Given the description of an element on the screen output the (x, y) to click on. 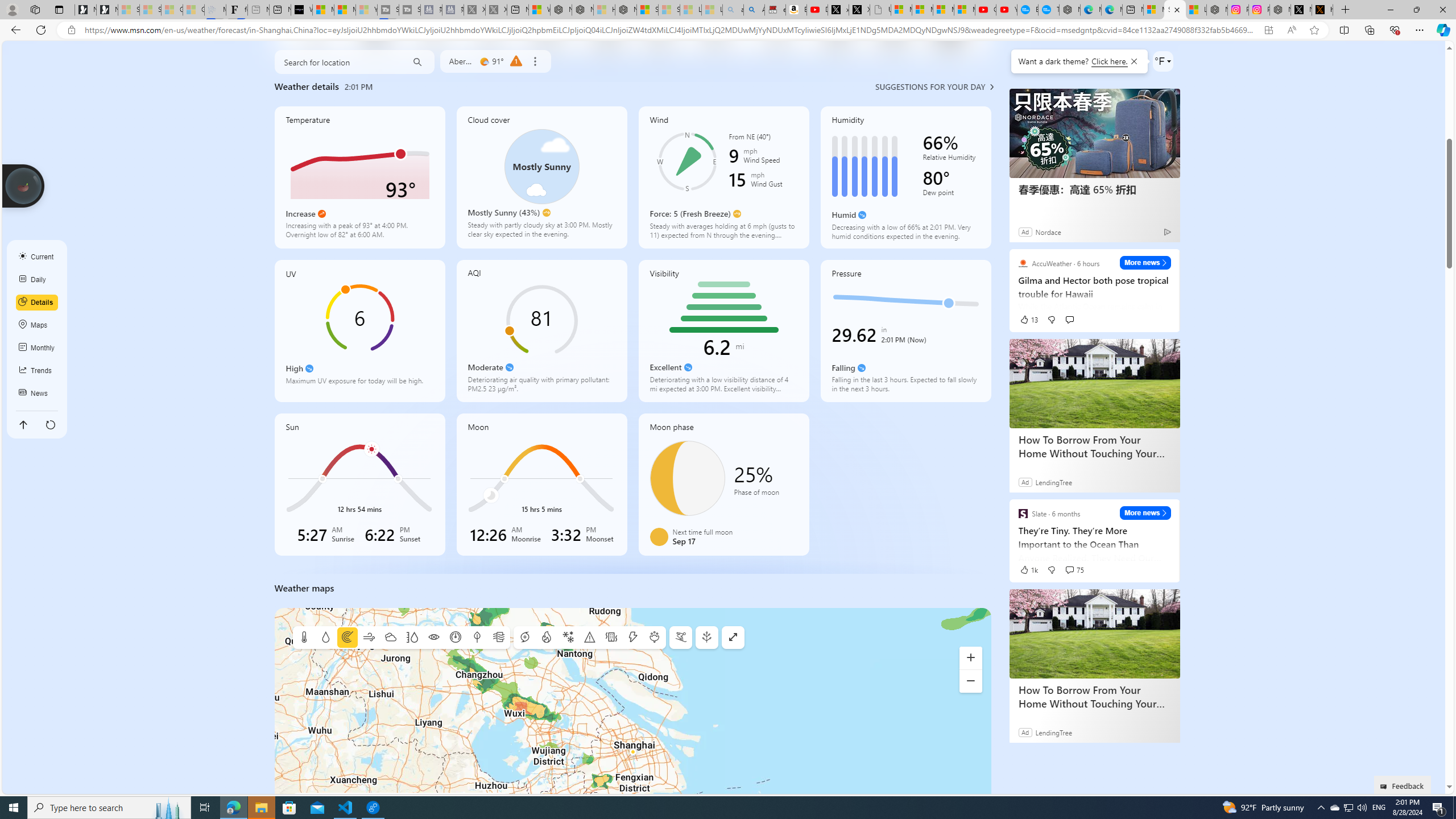
Amazon Echo Dot PNG - Search Images (754, 9)
App available. Install Microsoft Start Weather (1268, 29)
Temperature (359, 177)
Wind (723, 177)
Zoom in (970, 658)
How To Borrow From Your Home Without Touching Your Mortgage (1094, 633)
Cloud cover (541, 177)
Pressure (905, 330)
Hurricane (524, 637)
